Given the description of an element on the screen output the (x, y) to click on. 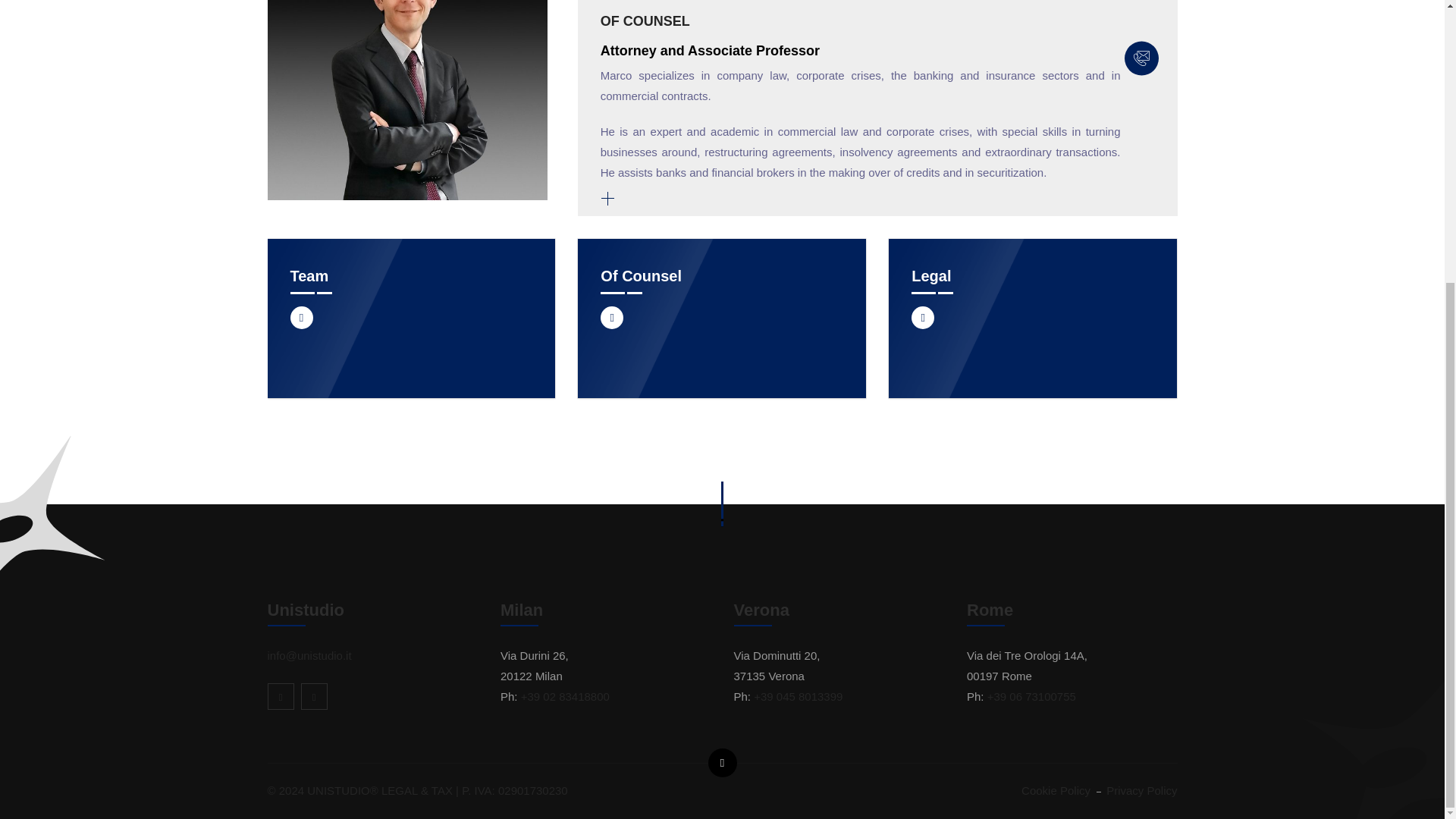
Team (309, 275)
Of Counsel (640, 275)
